Given the description of an element on the screen output the (x, y) to click on. 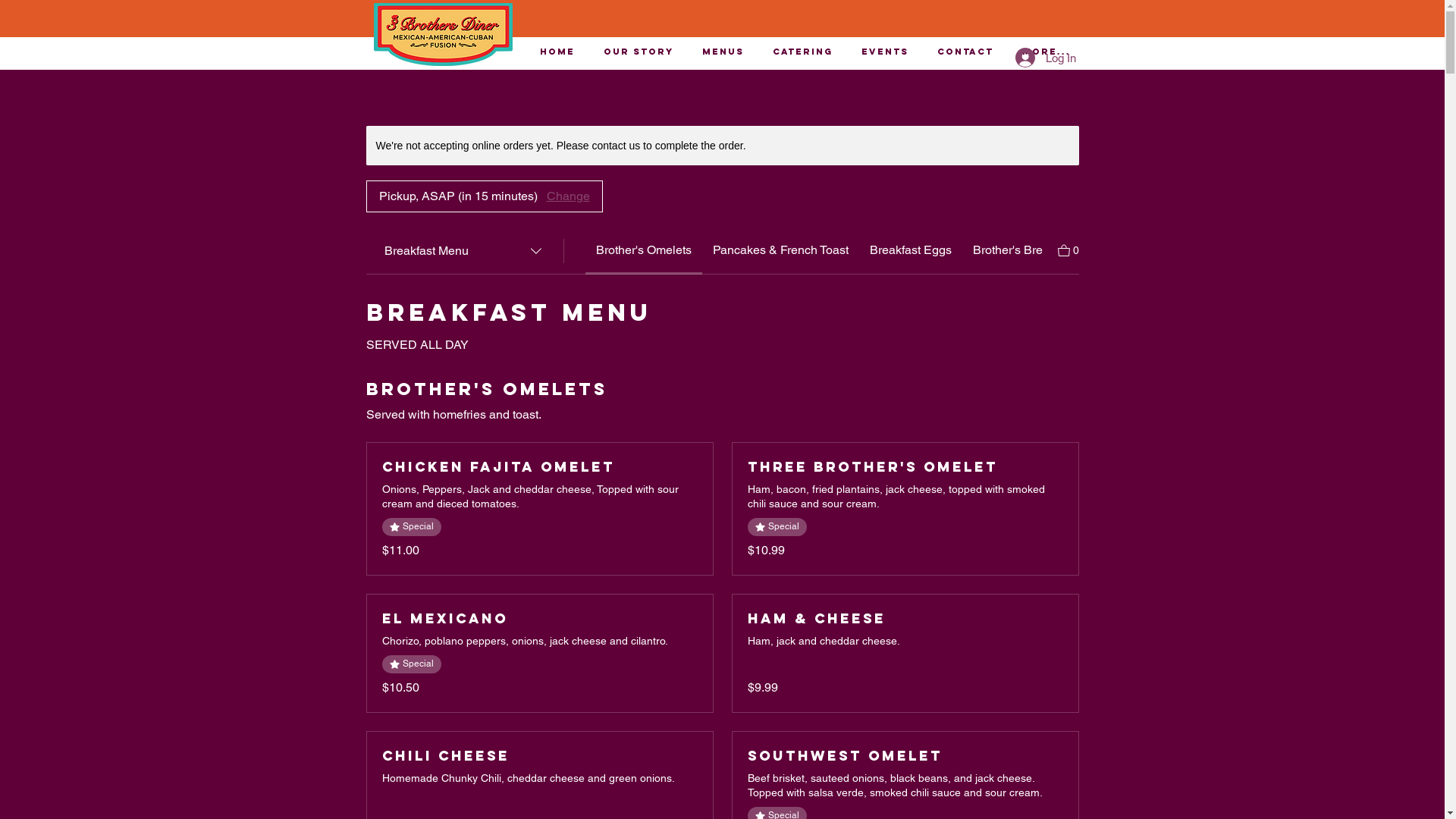
Catering Element type: text (802, 51)
Ham & Cheese Element type: text (905, 618)
Our Story Element type: text (637, 51)
Contact Element type: text (964, 51)
Chicken Fajita Omelet Element type: text (539, 467)
Events Element type: text (884, 51)
0 Element type: text (1067, 249)
El Mexicano Element type: text (539, 618)
Menus Element type: text (722, 51)
Breakfast Menu Element type: text (463, 250)
Change Element type: text (567, 196)
Home Element type: text (556, 51)
Chili Cheese Element type: text (539, 755)
Southwest Omelet Element type: text (905, 755)
Three Brother's Omelet Element type: text (905, 467)
Log In Element type: text (1044, 57)
